Given the description of an element on the screen output the (x, y) to click on. 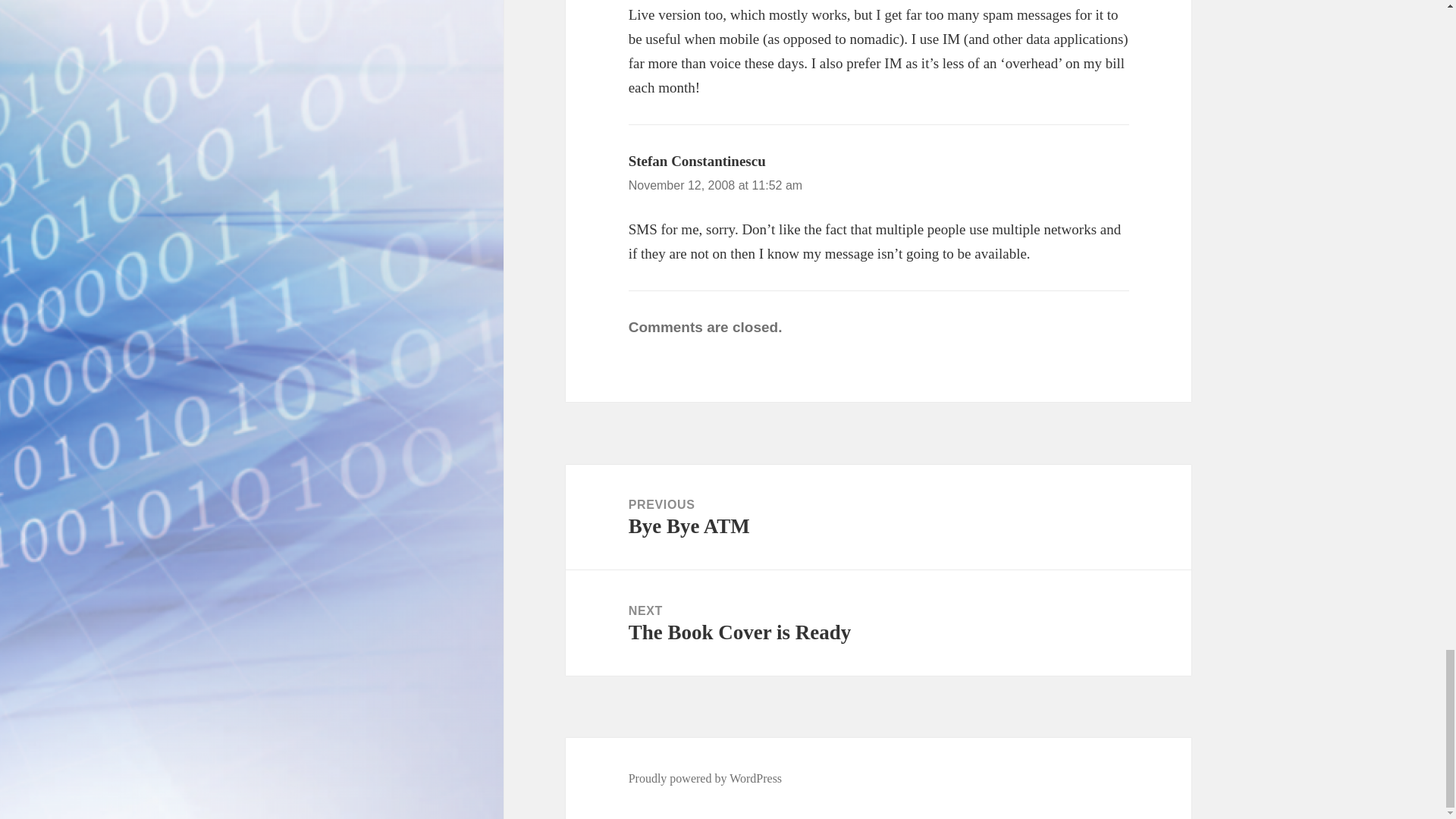
Stefan Constantinescu (696, 160)
November 12, 2008 at 11:52 am (878, 622)
